Given the description of an element on the screen output the (x, y) to click on. 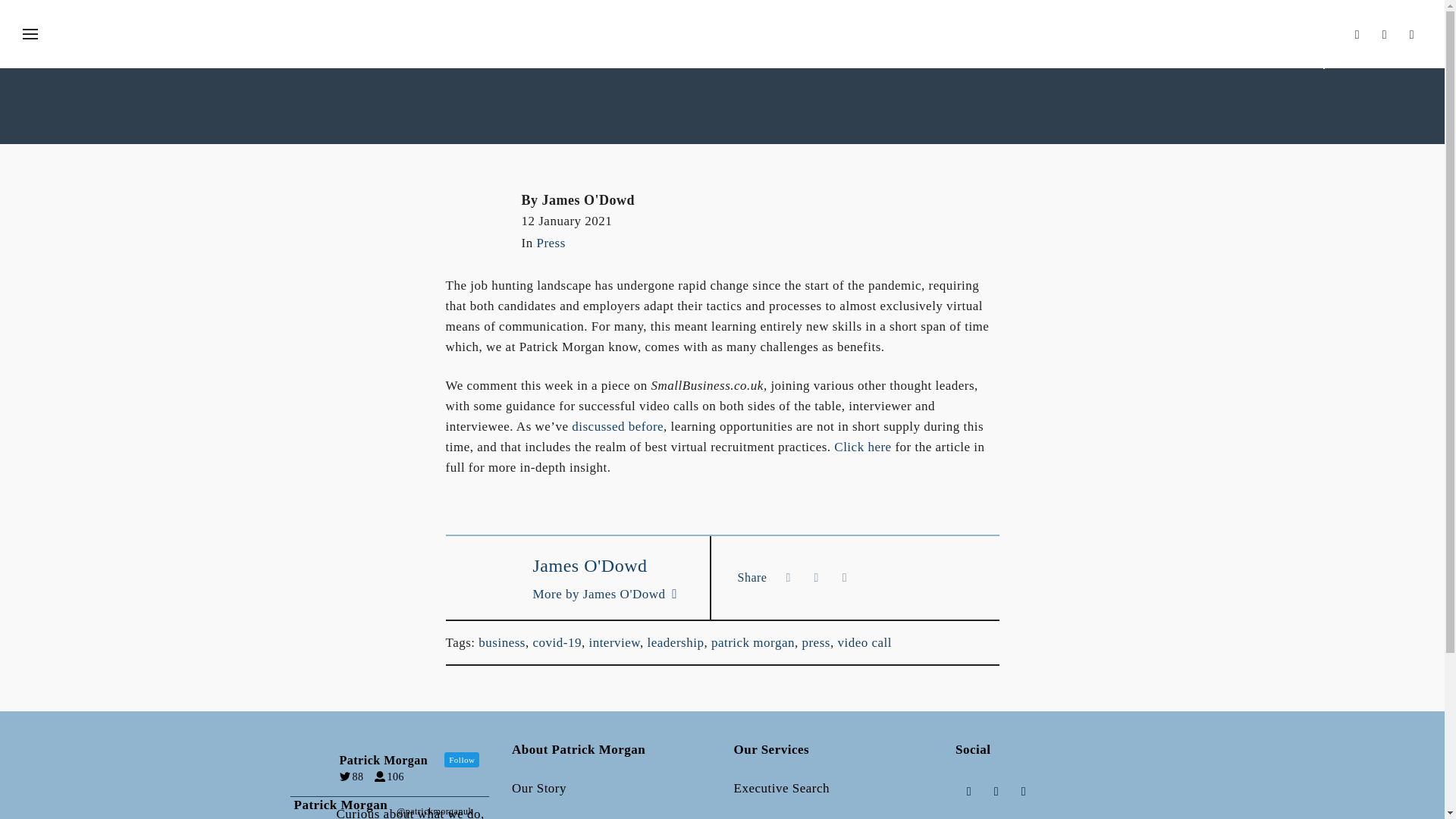
Menu (30, 34)
88 Tweets (355, 776)
106 Followers (393, 776)
